Given the description of an element on the screen output the (x, y) to click on. 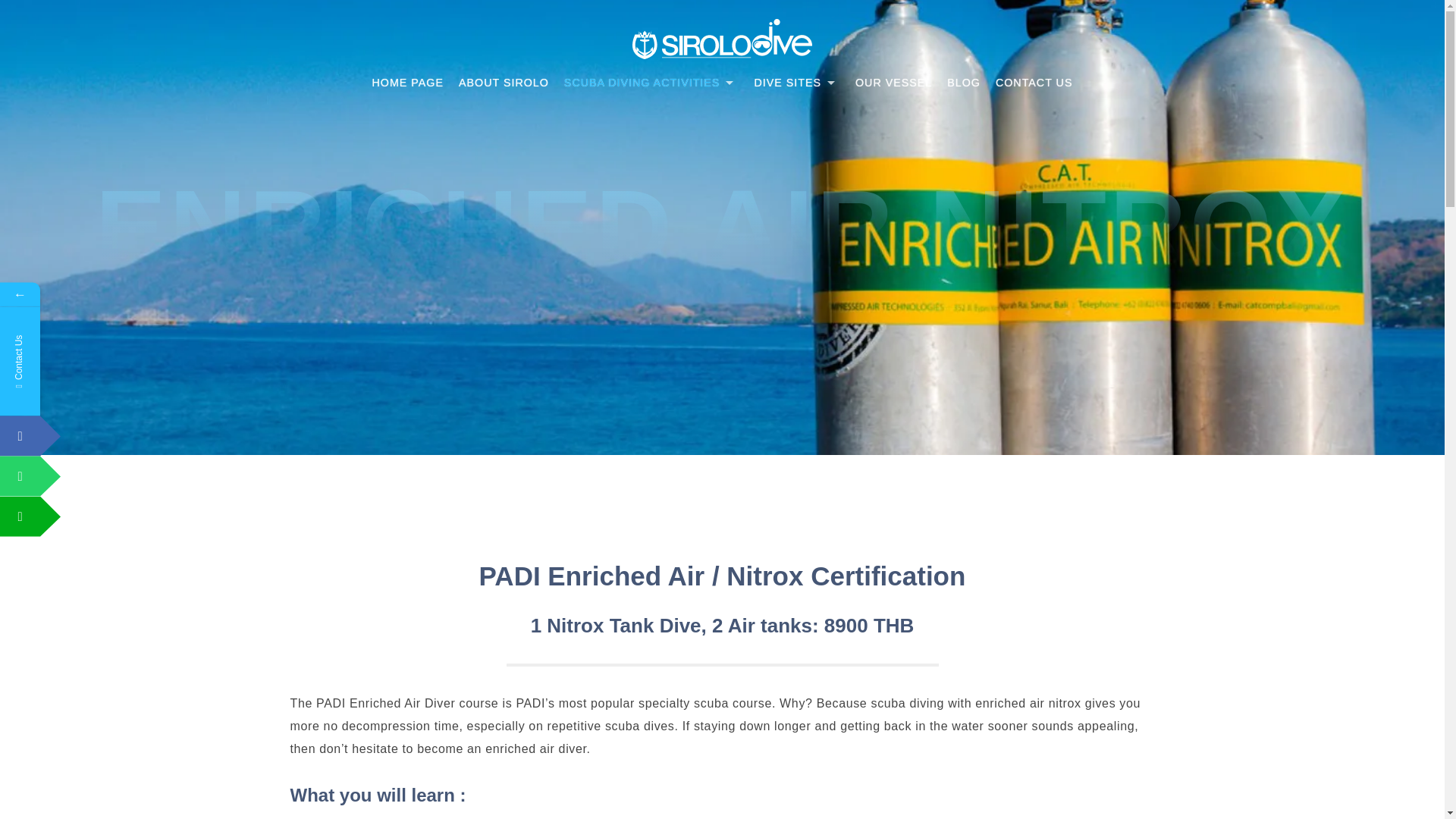
SCUBA DIVING ACTIVITIES (651, 82)
ABOUT SIROLO (503, 82)
DIVE SITES (796, 82)
HOME PAGE (408, 82)
